Given the description of an element on the screen output the (x, y) to click on. 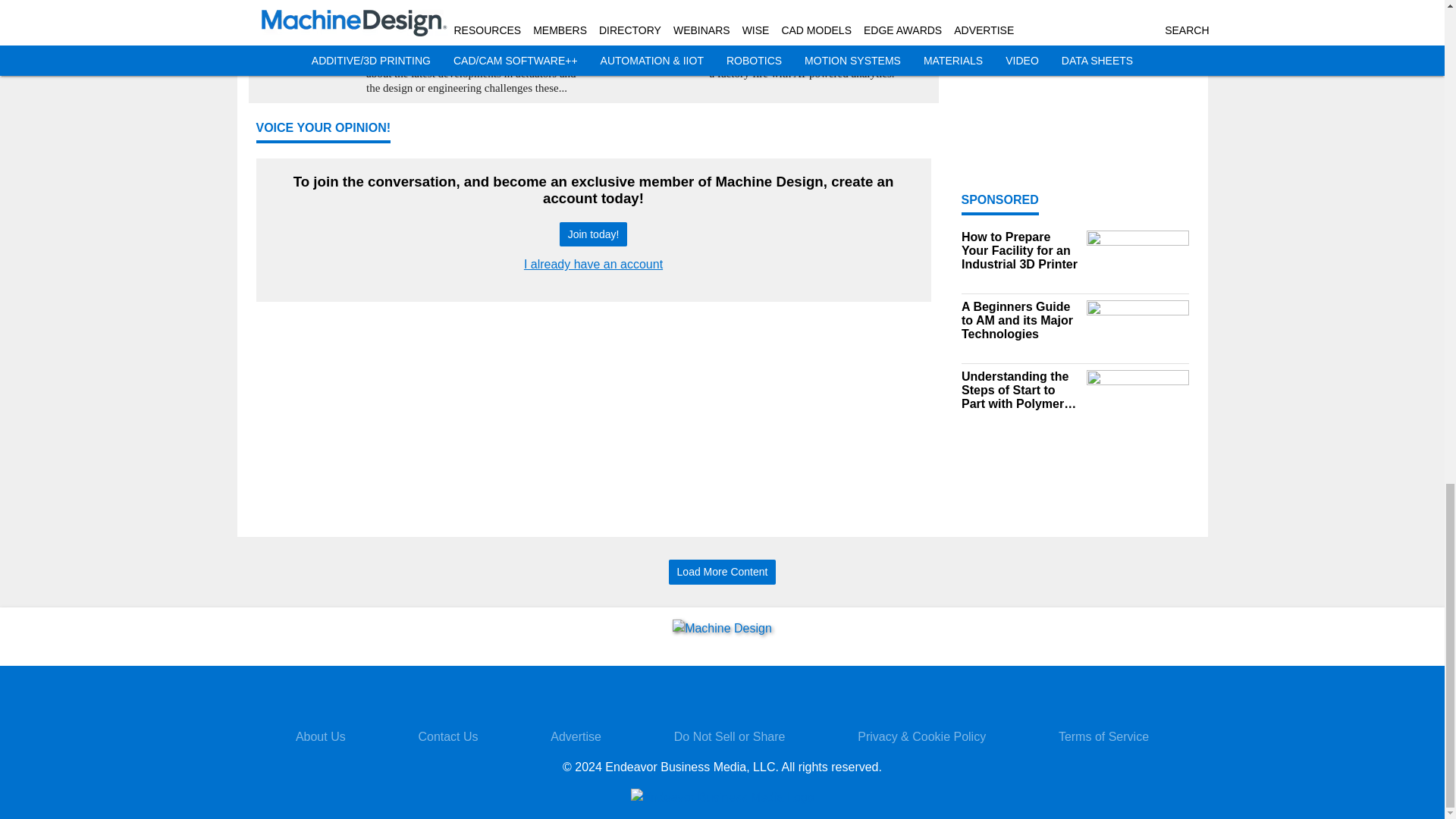
How to Build Better Robotics with Integrated Actuators (476, 4)
I already have an account (593, 264)
Join today! (593, 234)
